Given the description of an element on the screen output the (x, y) to click on. 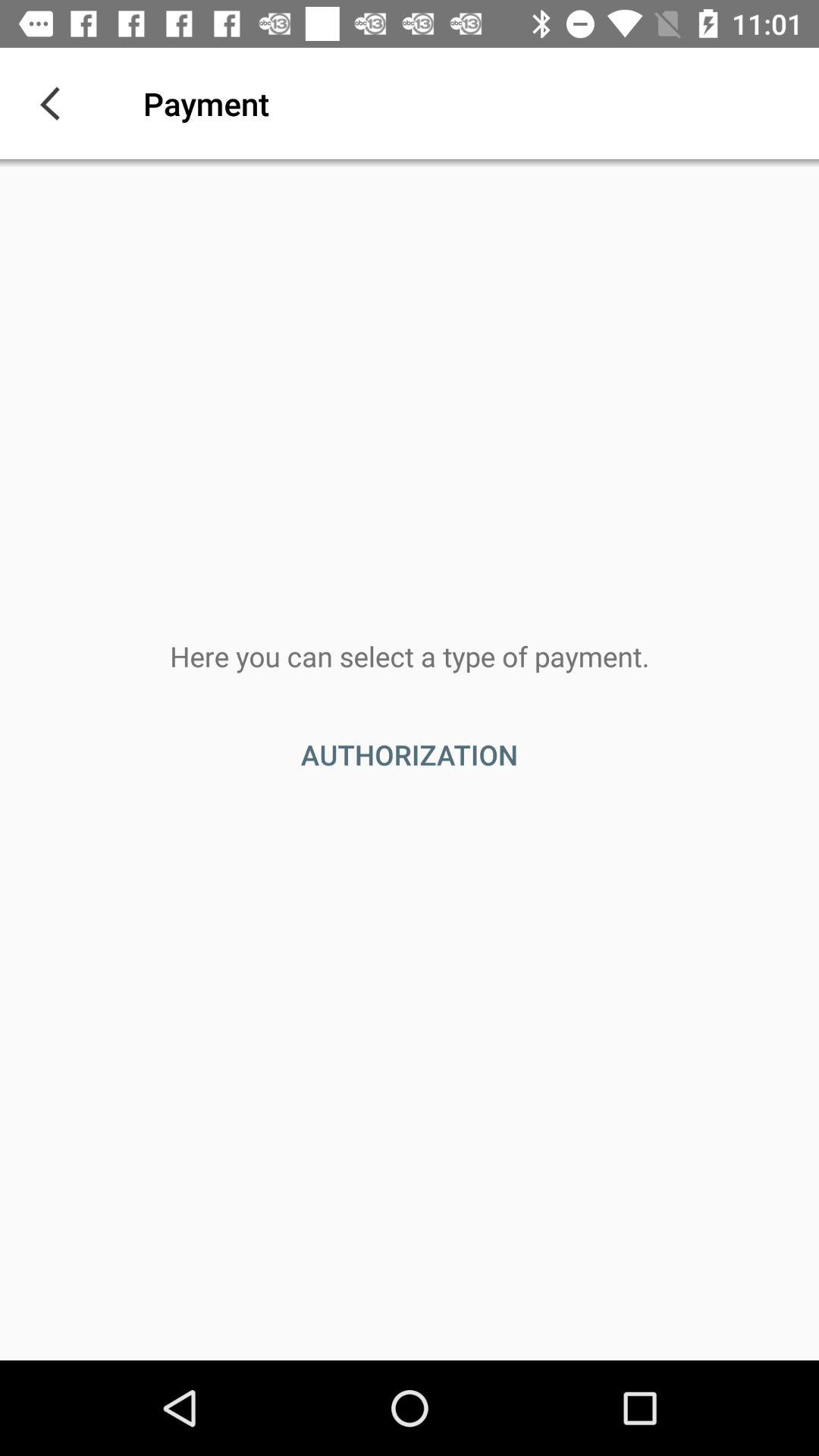
turn on item next to payment item (55, 103)
